Given the description of an element on the screen output the (x, y) to click on. 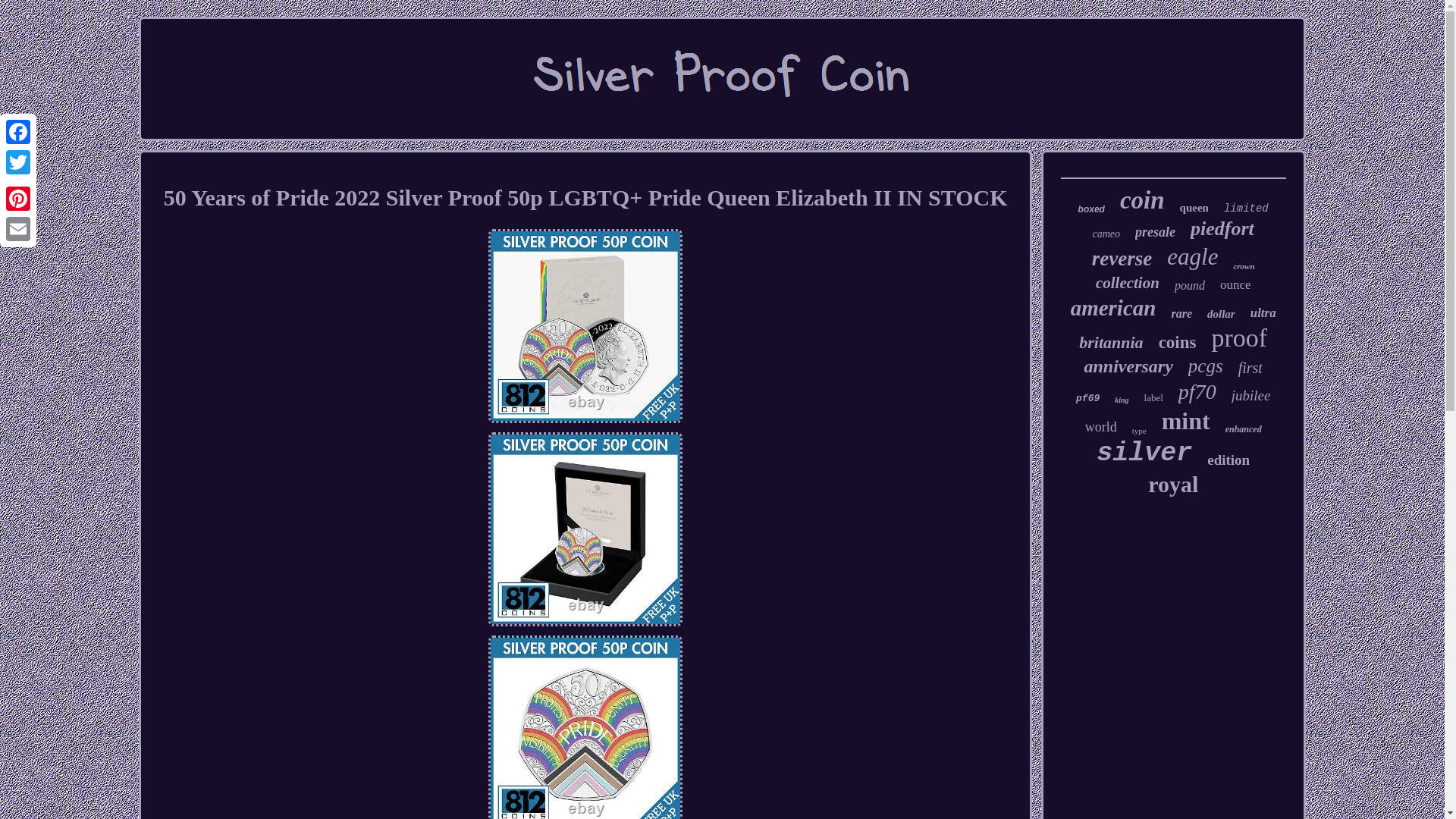
crown (1243, 266)
ounce (1235, 284)
rare (1181, 314)
american (1113, 308)
pf70 (1196, 392)
presale (1154, 232)
Twitter (17, 162)
collection (1127, 282)
ultra (1263, 313)
reverse (1121, 259)
